Given the description of an element on the screen output the (x, y) to click on. 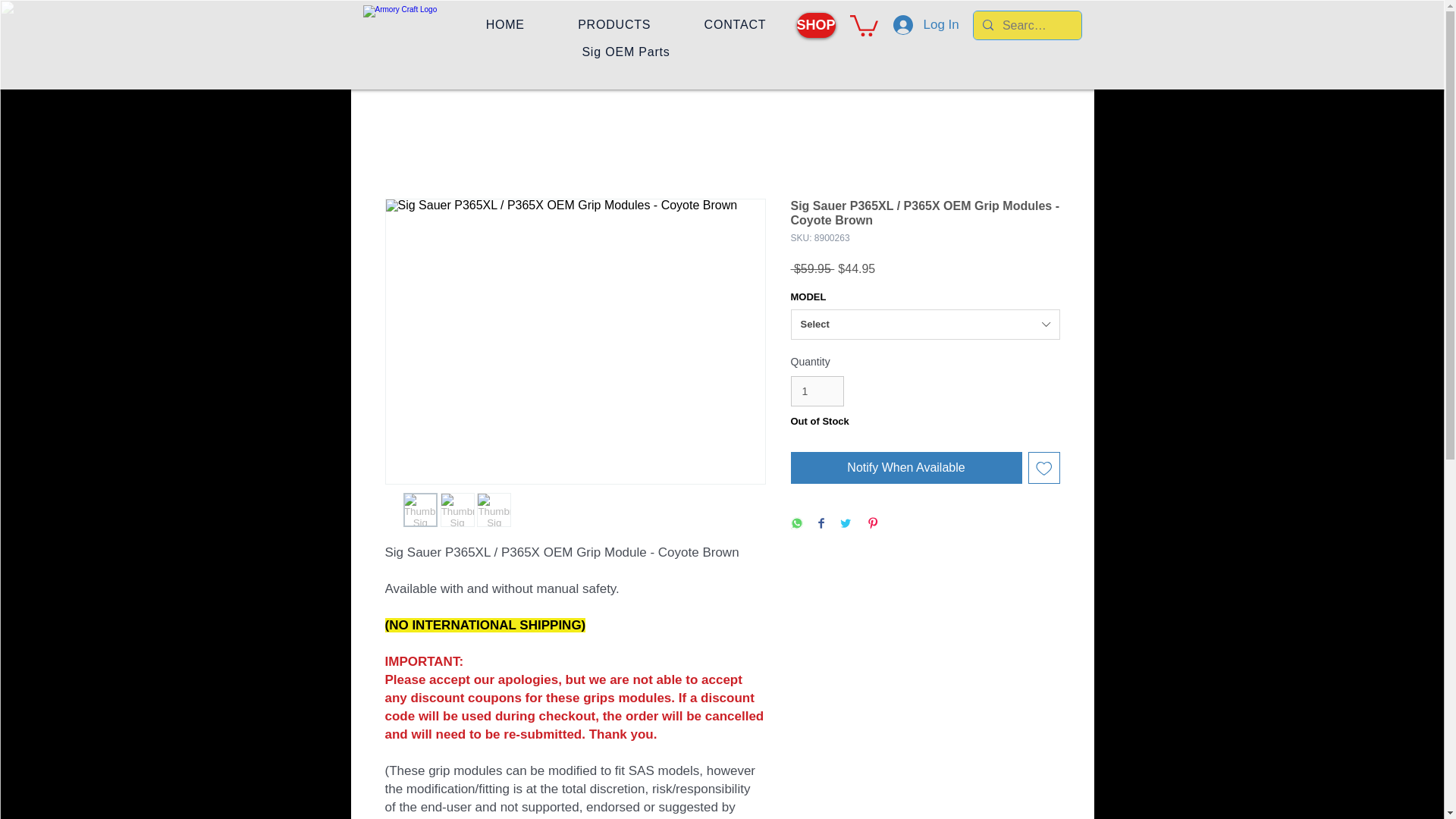
Log In (901, 24)
1 (817, 391)
Sig OEM Parts (626, 52)
Select (924, 324)
HOME (505, 25)
SHOP (815, 25)
CONTACT (734, 25)
